Given the description of an element on the screen output the (x, y) to click on. 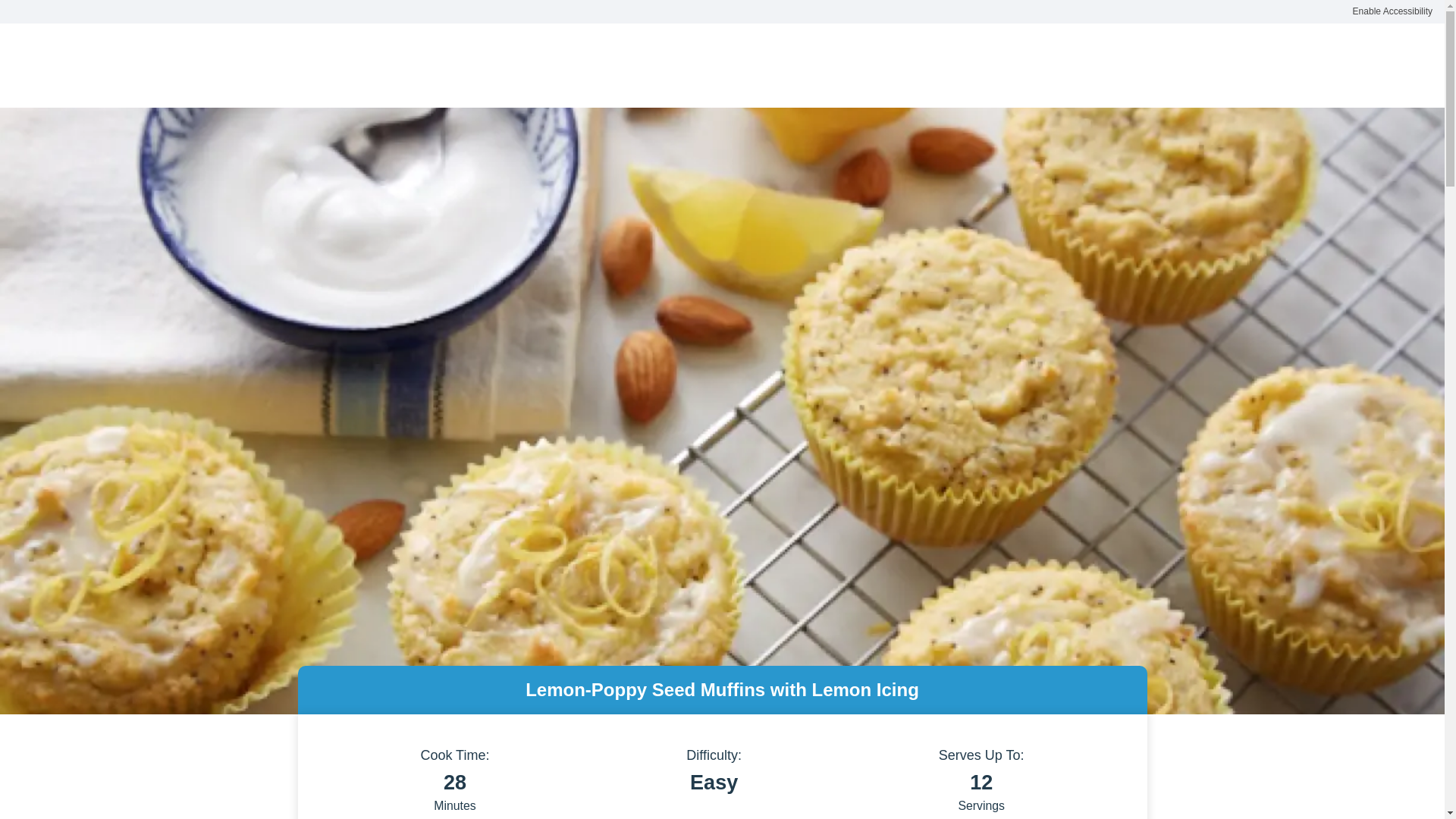
Skip to main content (71, 21)
Enable Accessibility (1392, 11)
